Given the description of an element on the screen output the (x, y) to click on. 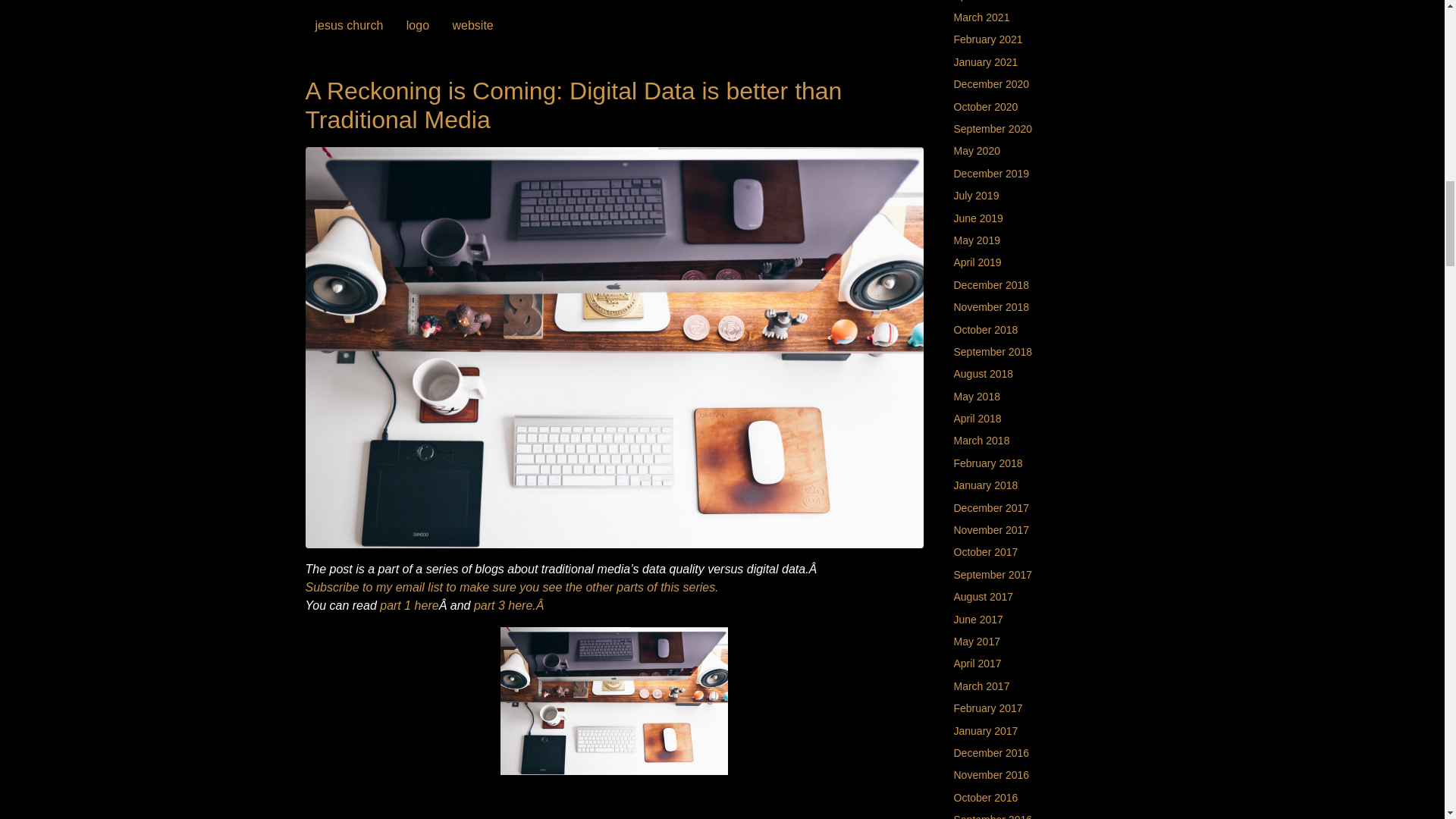
A Reckoning is Coming: Good Uses for Traditional Media (510, 604)
Subscribe (510, 586)
